Given the description of an element on the screen output the (x, y) to click on. 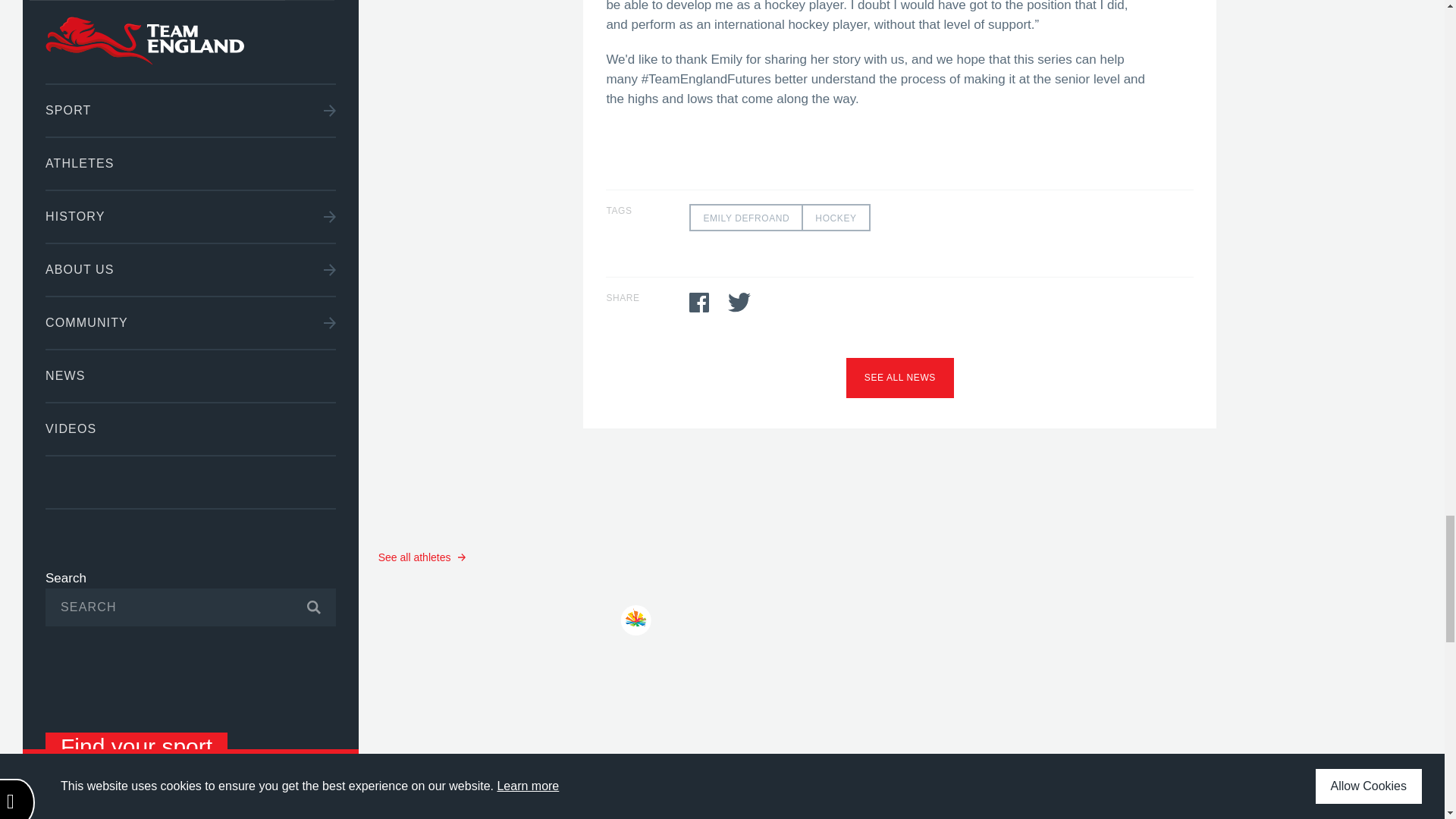
Share on Facebook (698, 302)
Share on Twitter (739, 302)
